Given the description of an element on the screen output the (x, y) to click on. 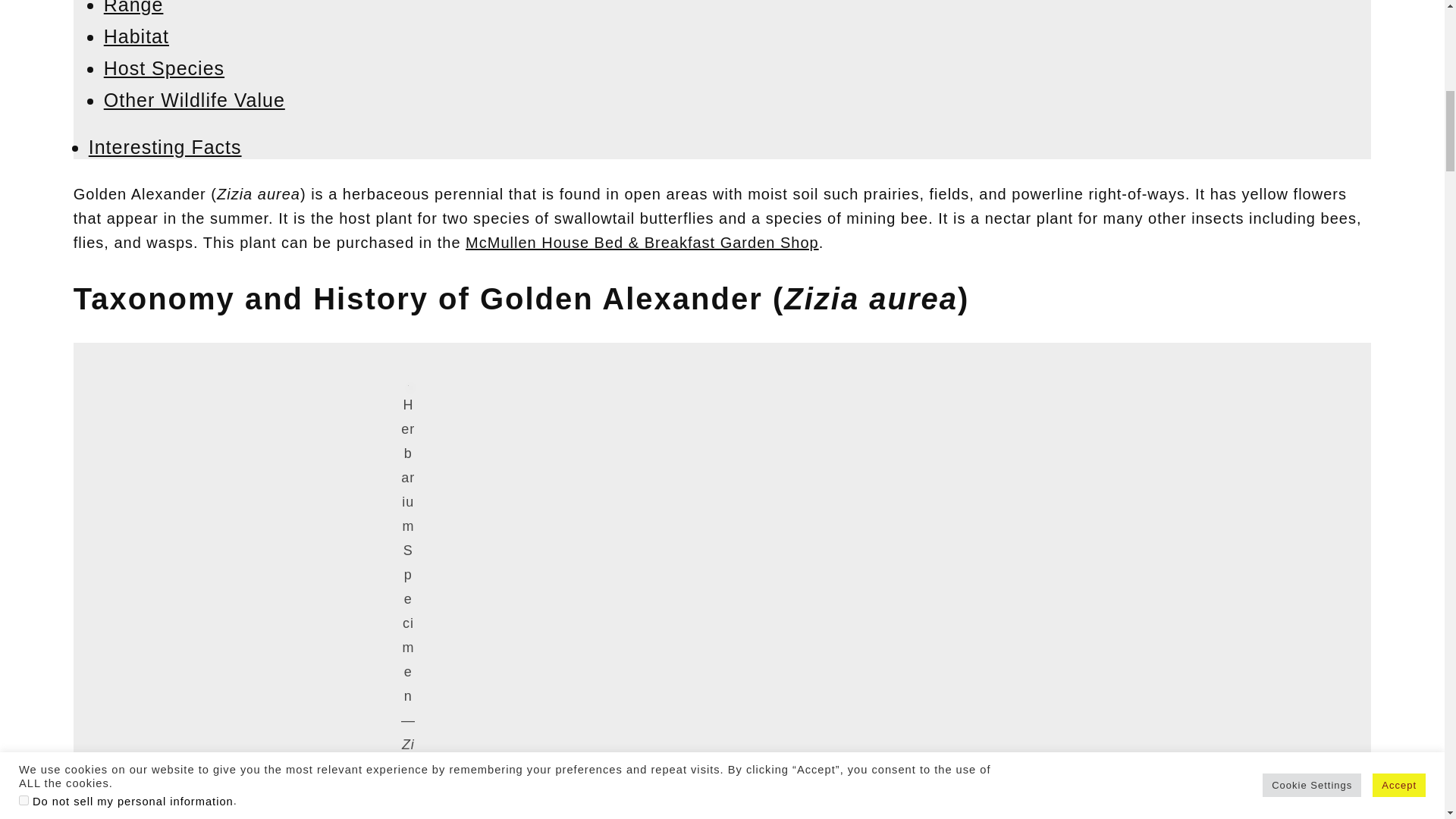
Other Wildlife Value (194, 99)
Habitat (135, 35)
Range (133, 7)
Interesting Facts (164, 147)
Host Species (163, 67)
